Given the description of an element on the screen output the (x, y) to click on. 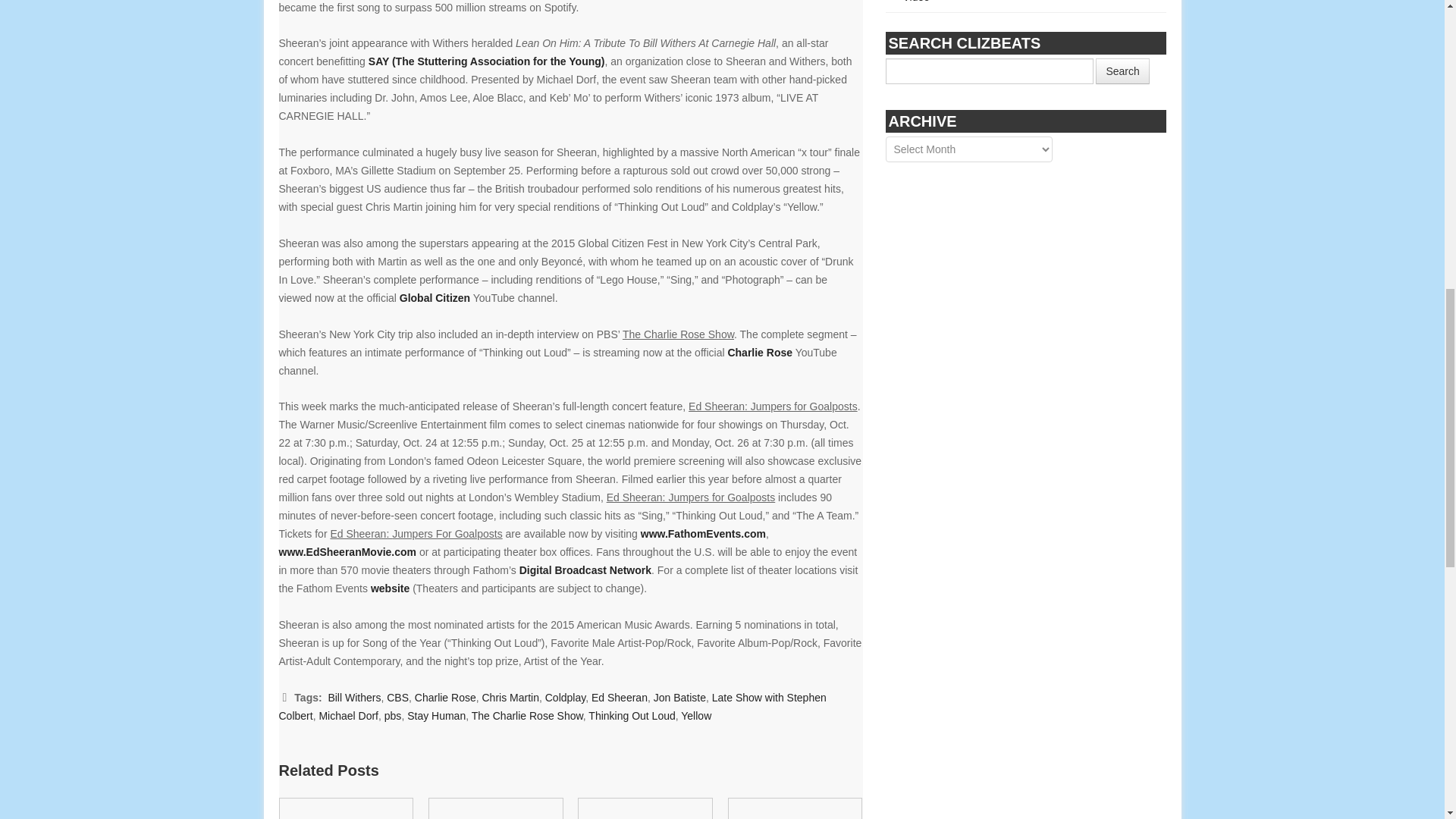
Charlie Rose (759, 352)
Global Citizen (434, 297)
Digital Broadcast Network (584, 570)
www.EdSheeranMovie.com (347, 551)
website (390, 588)
Search (1122, 71)
www.FathomEvents.com (702, 533)
